Given the description of an element on the screen output the (x, y) to click on. 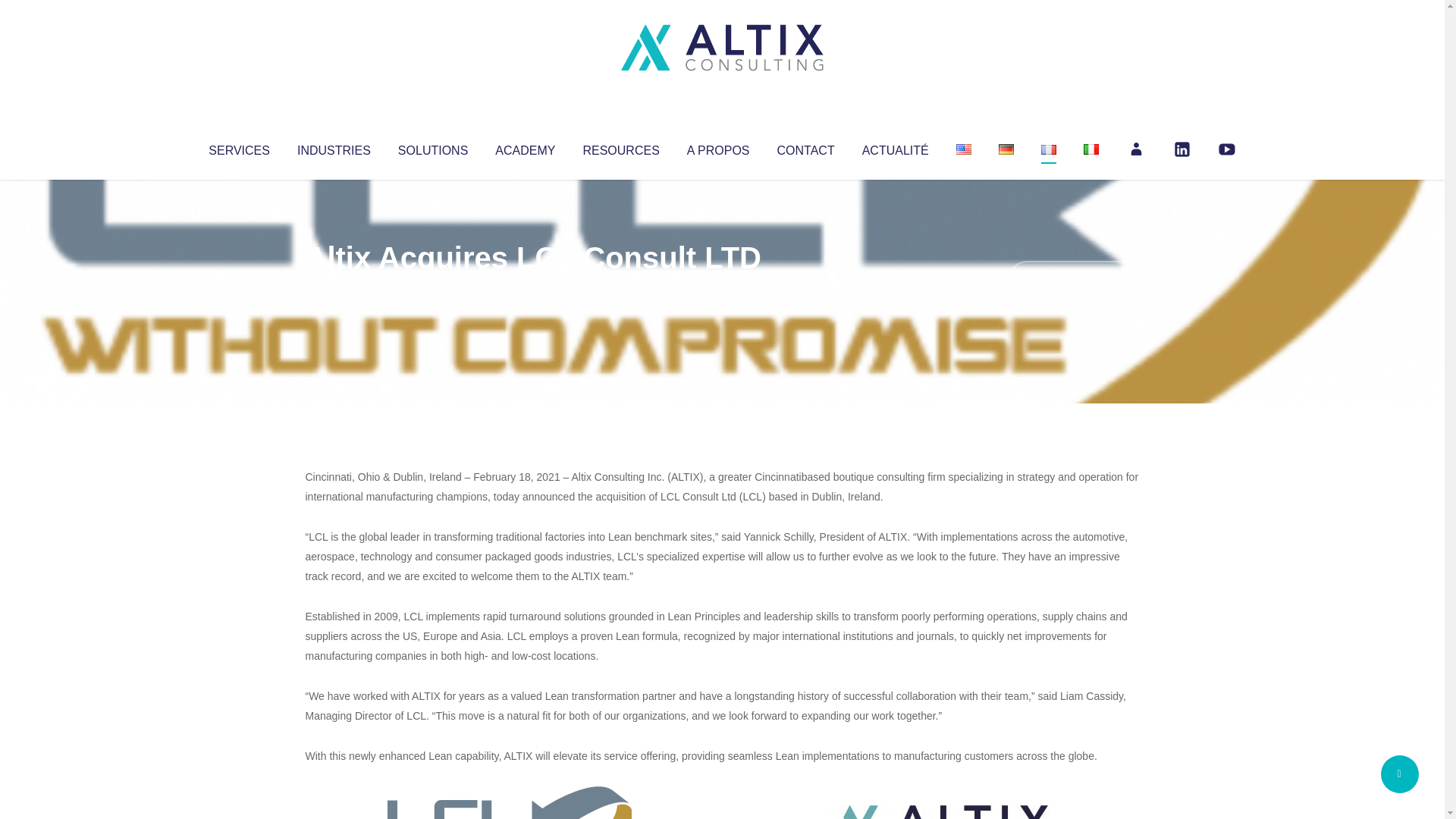
A PROPOS (718, 146)
SERVICES (238, 146)
Altix (333, 287)
SOLUTIONS (432, 146)
Uncategorized (530, 287)
ACADEMY (524, 146)
INDUSTRIES (334, 146)
No Comments (1073, 278)
Articles par Altix (333, 287)
RESOURCES (620, 146)
